Given the description of an element on the screen output the (x, y) to click on. 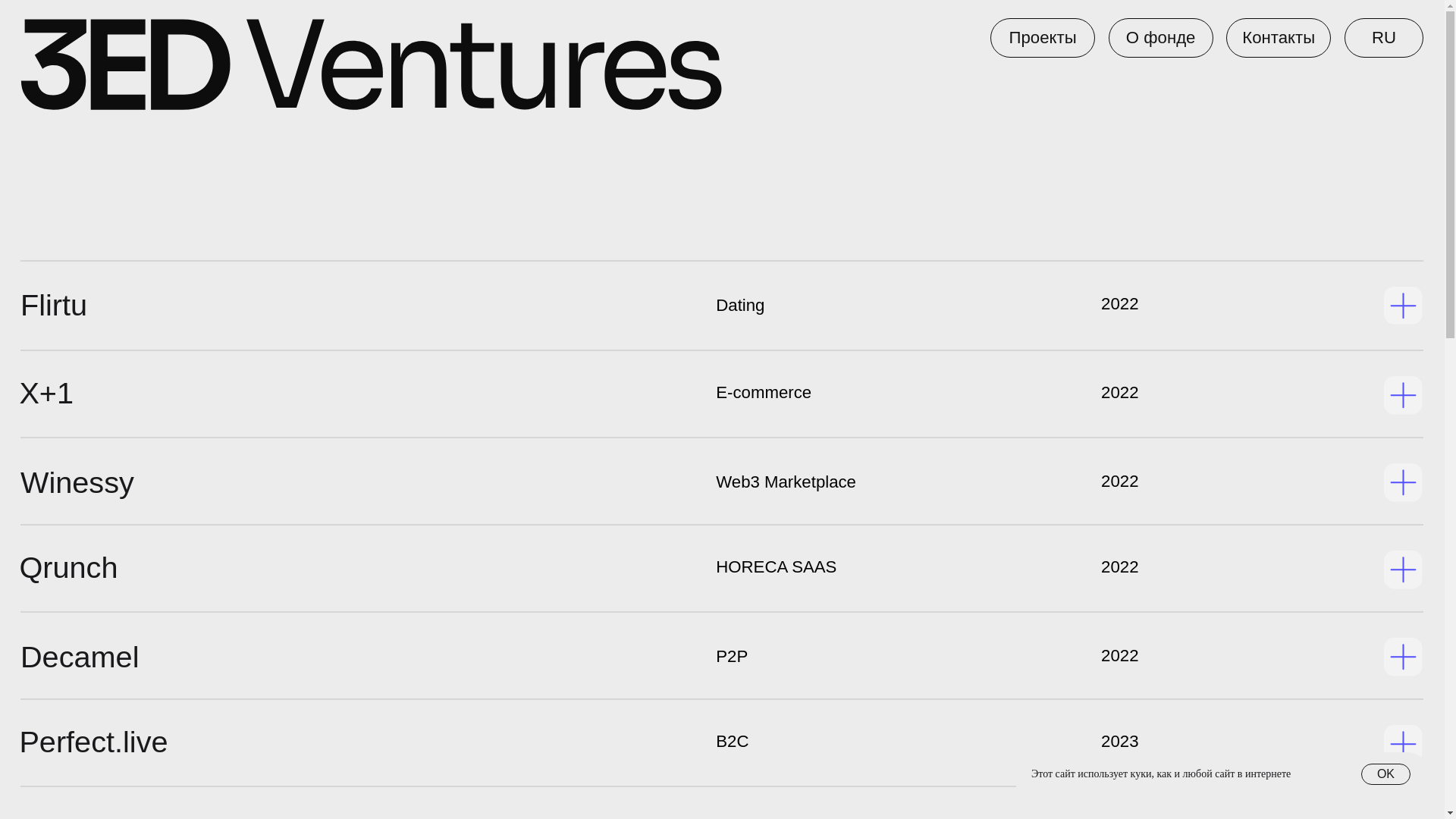
EN Element type: text (1170, 23)
RU Element type: text (872, 23)
RU Element type: text (1144, 23)
